Given the description of an element on the screen output the (x, y) to click on. 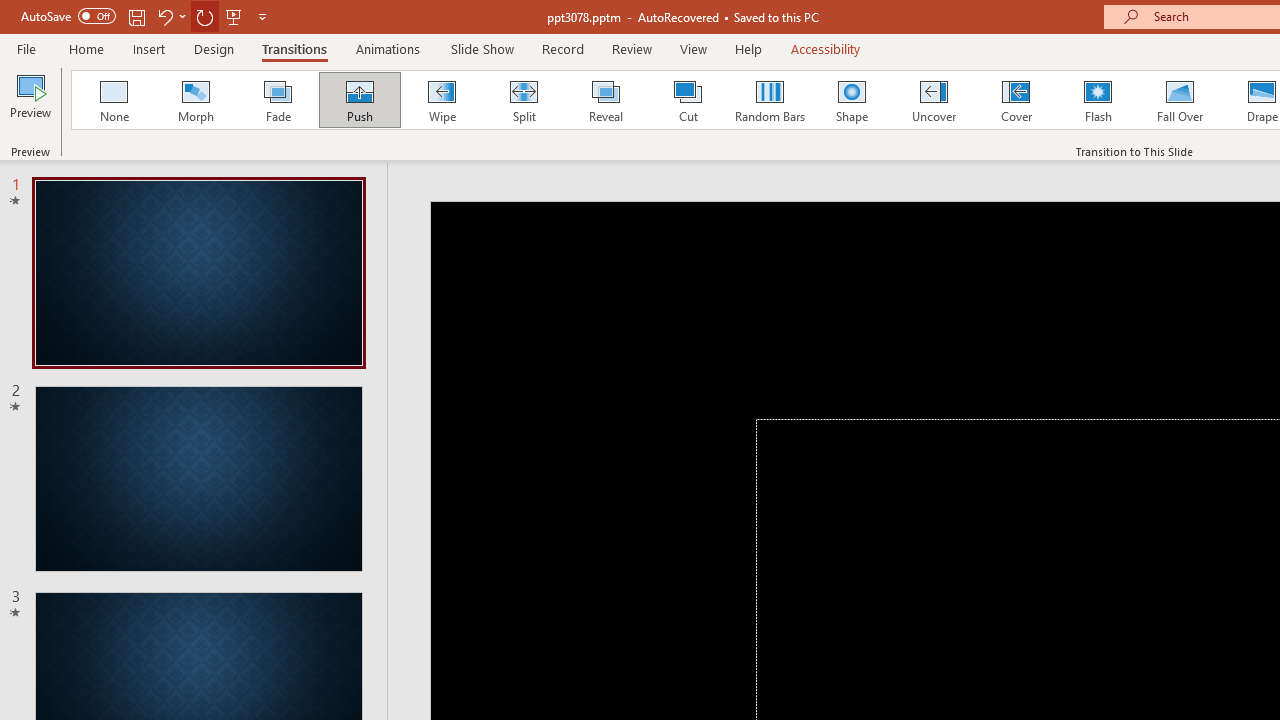
Push (359, 100)
Cover (1016, 100)
